Given the description of an element on the screen output the (x, y) to click on. 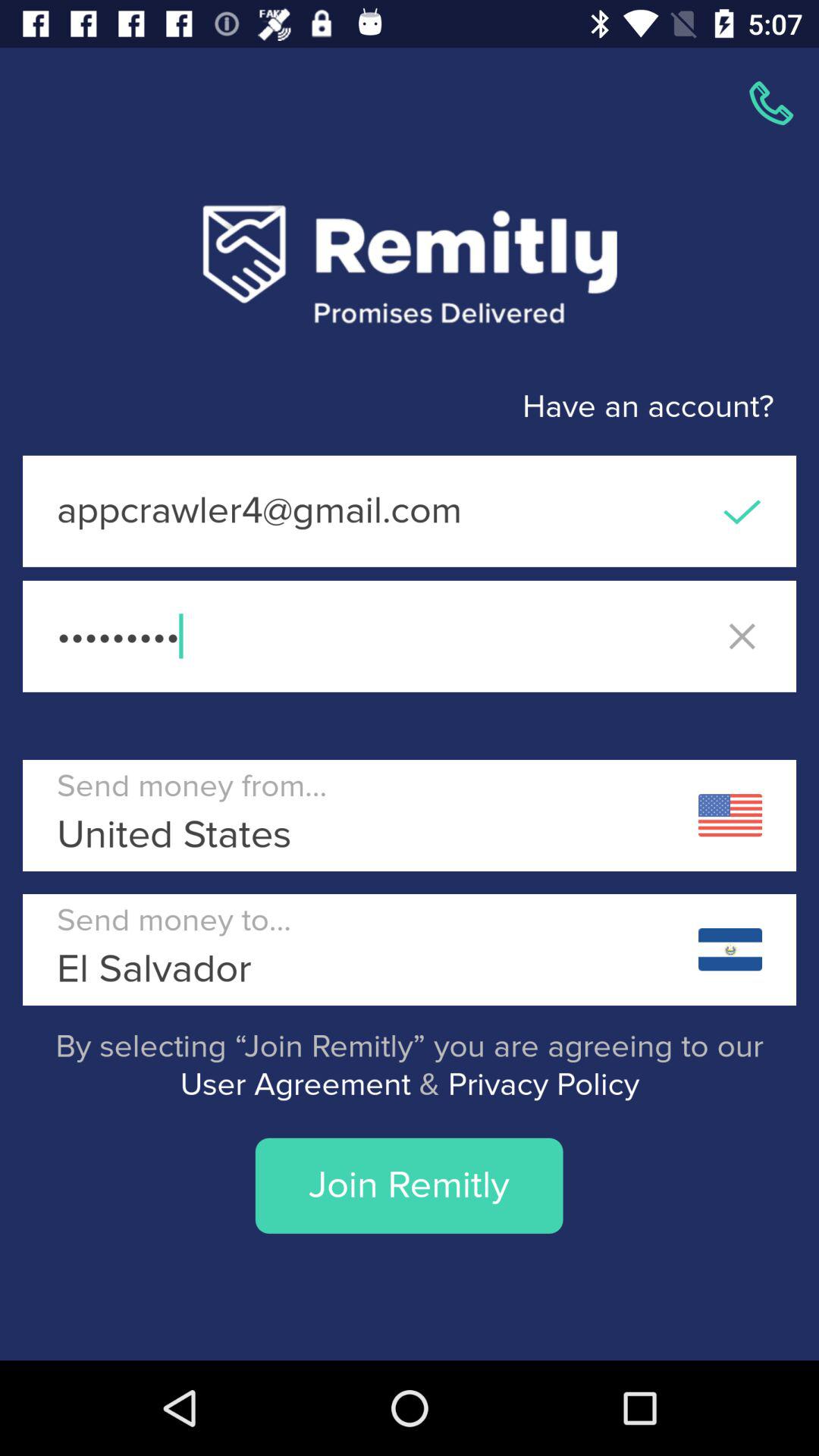
click the appcrawler4@gmail.com icon (409, 511)
